Given the description of an element on the screen output the (x, y) to click on. 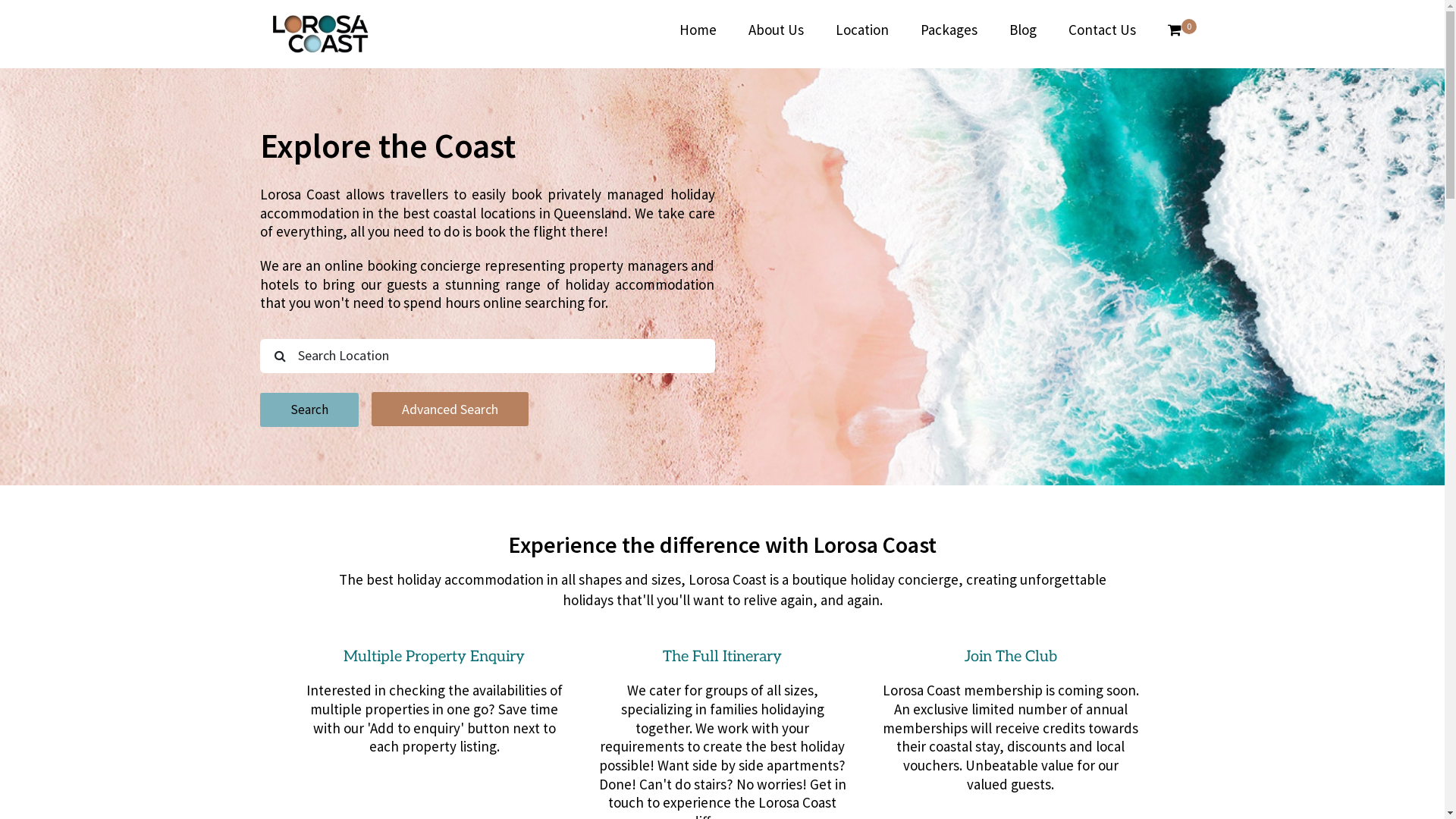
Location Element type: text (861, 29)
Advanced Search Element type: text (449, 409)
Home Element type: text (696, 29)
Search Element type: text (308, 409)
About Us Element type: text (775, 29)
Blog Element type: text (1022, 29)
0 Element type: text (1173, 29)
Packages Element type: text (948, 29)
Contact Us Element type: text (1101, 29)
